Given the description of an element on the screen output the (x, y) to click on. 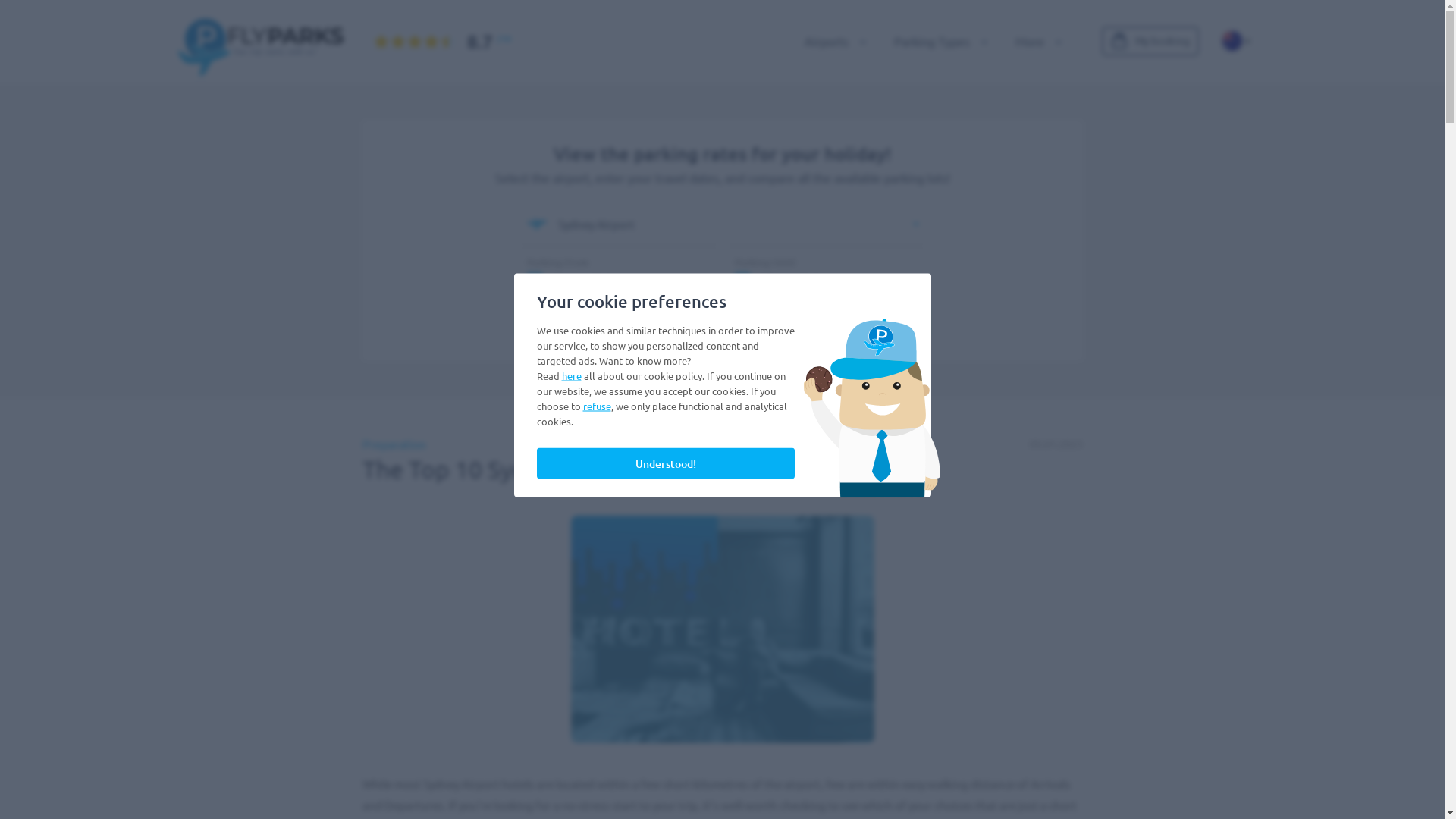
Search Element type: text (721, 321)
here Element type: text (570, 375)
Preparation Element type: text (394, 443)
Parking Types Element type: text (936, 40)
My booking Element type: text (1149, 41)
8.7 / 10 Element type: text (426, 41)
